Given the description of an element on the screen output the (x, y) to click on. 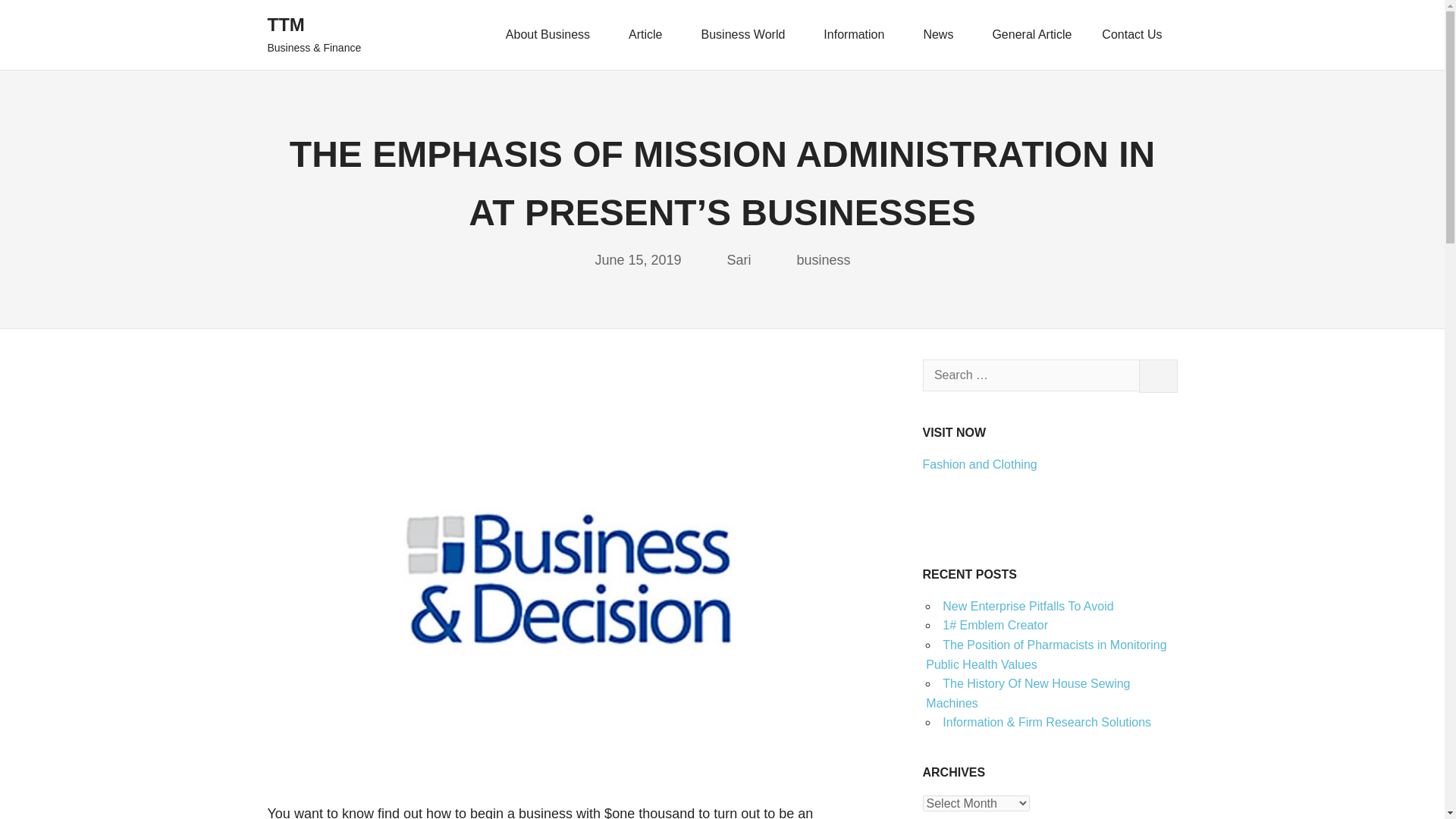
June 15, 2019 (637, 259)
General Article (1031, 34)
About Business (551, 34)
Contact Us (1131, 34)
business (823, 259)
Information (857, 34)
Sari (738, 259)
Article (648, 34)
News (941, 34)
8:06 am (637, 259)
